Given the description of an element on the screen output the (x, y) to click on. 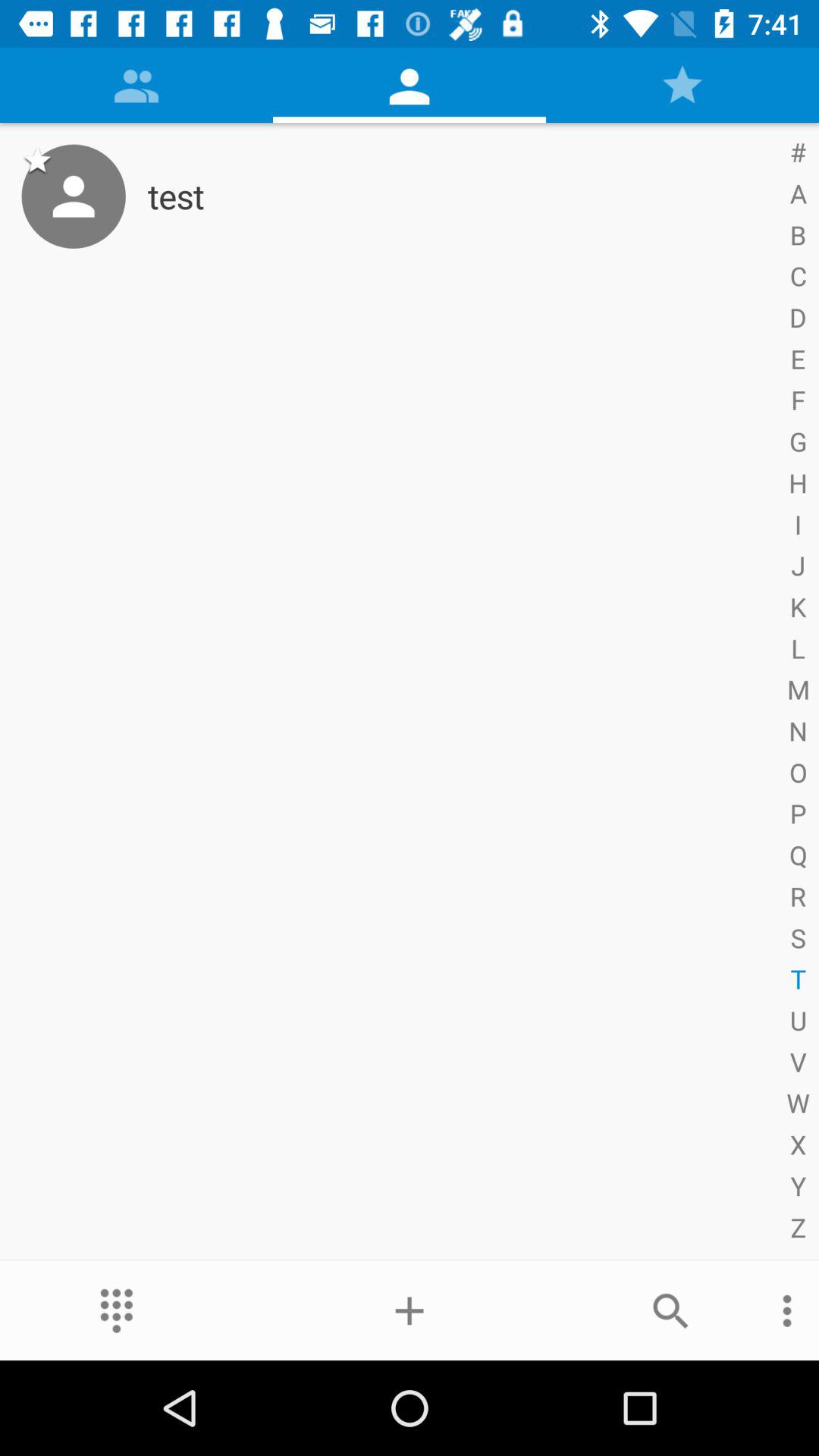
launch item on the right (795, 691)
